Given the description of an element on the screen output the (x, y) to click on. 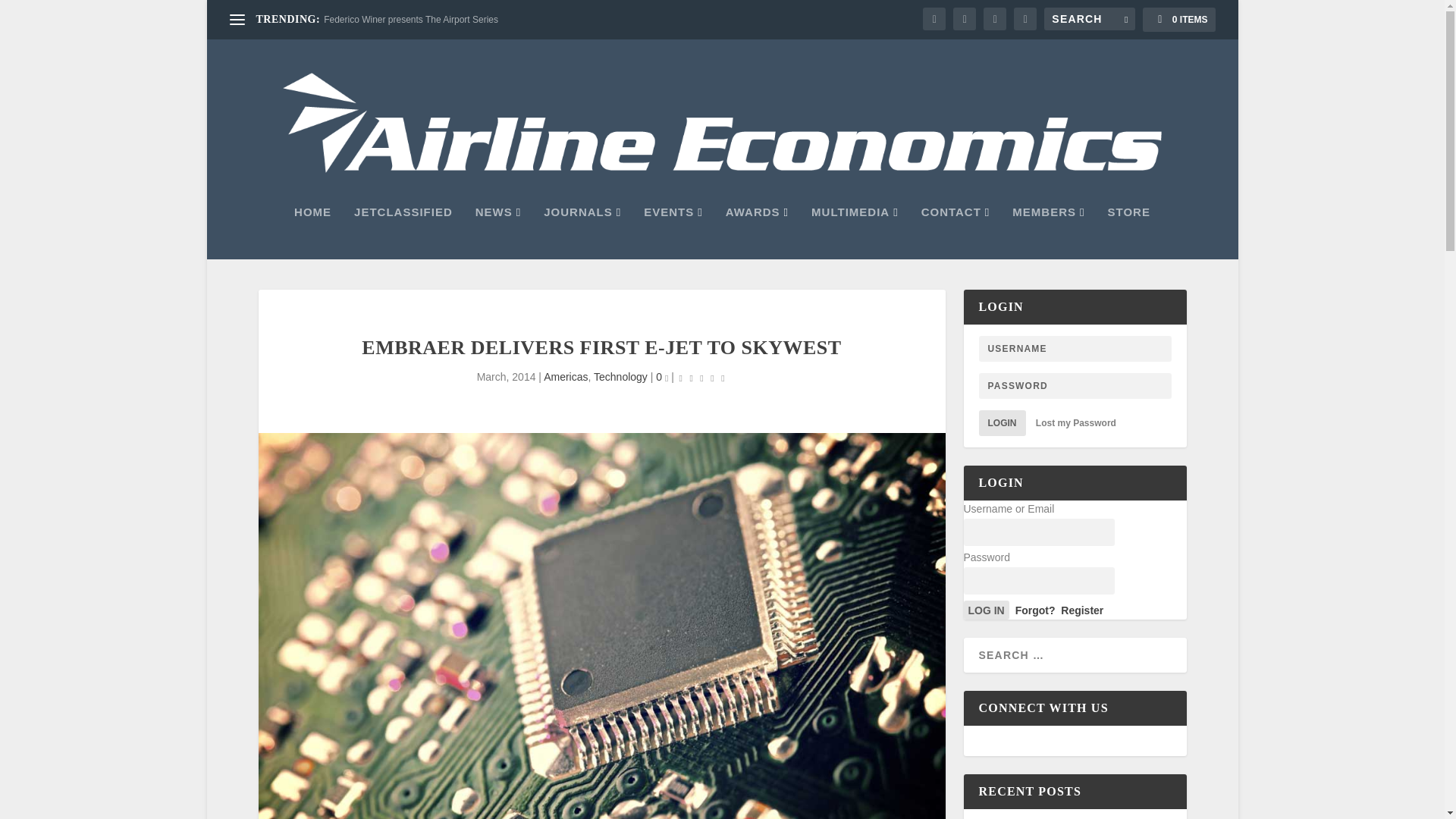
NEWS (498, 232)
JETCLASSIFIED (402, 232)
JOURNALS (582, 232)
Rating: 0.00 (701, 377)
log in (985, 609)
HOME (312, 232)
Federico Winer presents The Airport Series (410, 19)
comment count (666, 378)
